Given the description of an element on the screen output the (x, y) to click on. 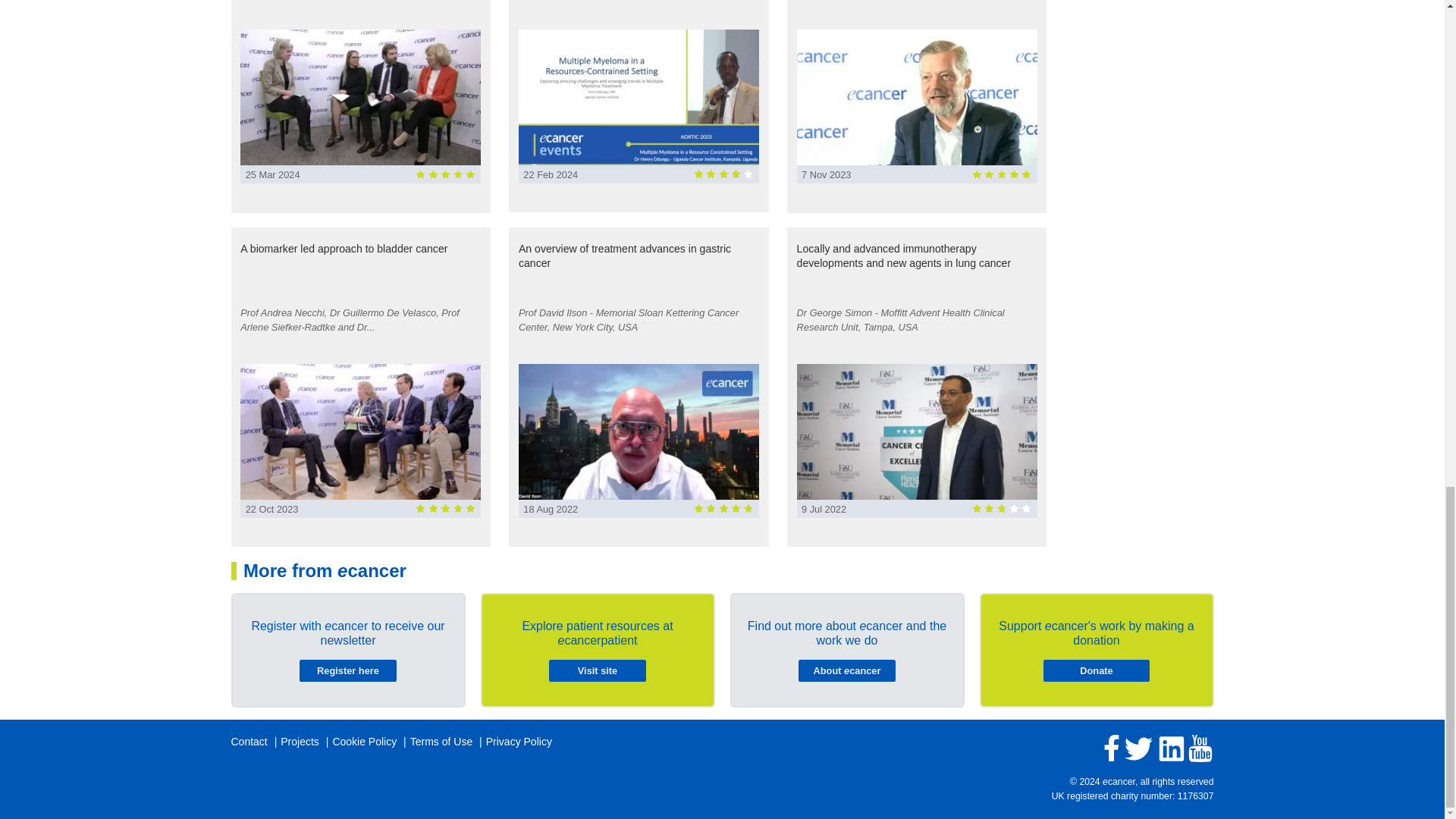
Donate (1095, 670)
